Given the description of an element on the screen output the (x, y) to click on. 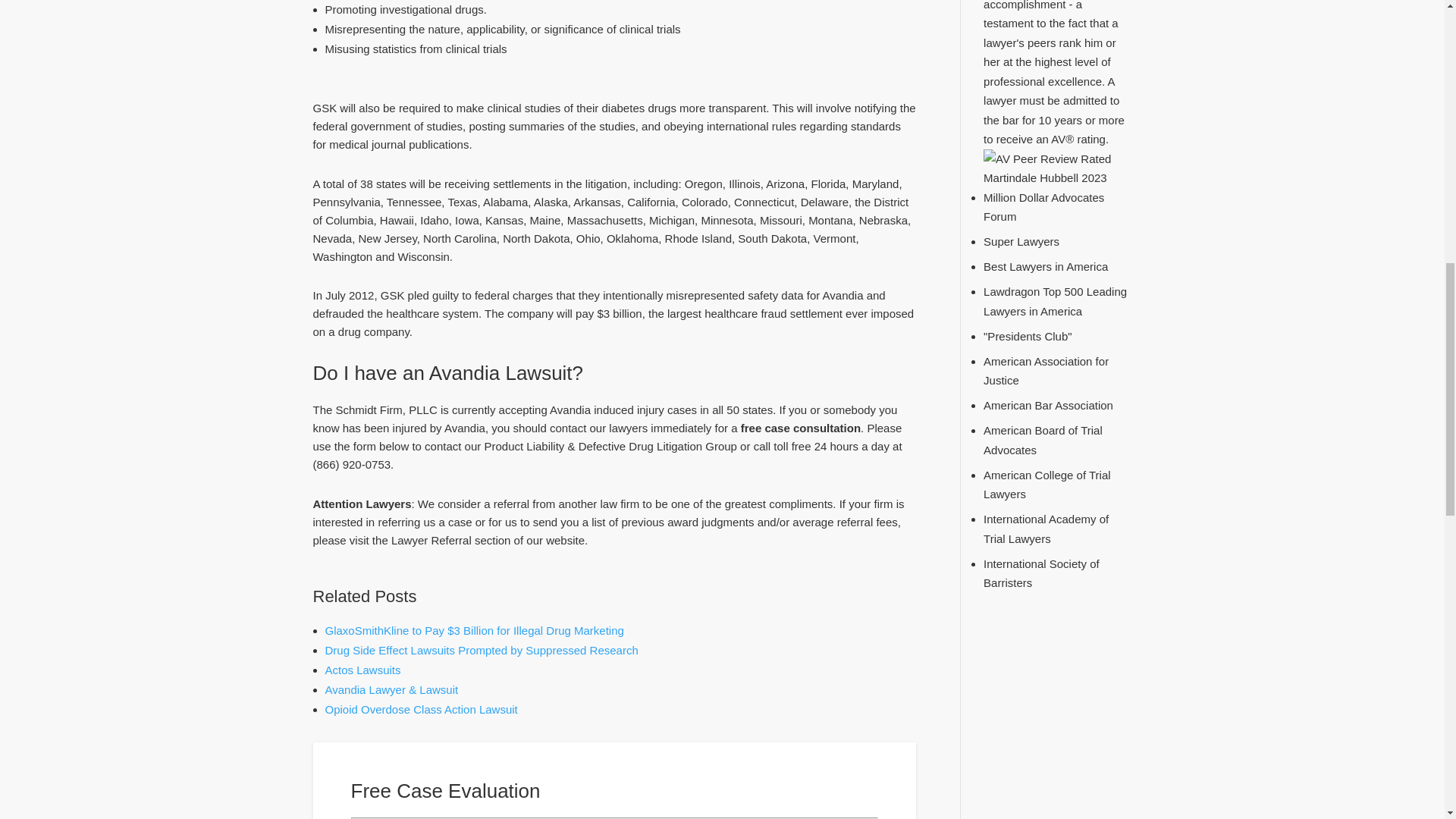
Drug Side Effect Lawsuits Prompted by Suppressed Research (480, 649)
Actos Lawsuits (362, 669)
Opioid Overdose Class Action Lawsuit (420, 708)
